Given the description of an element on the screen output the (x, y) to click on. 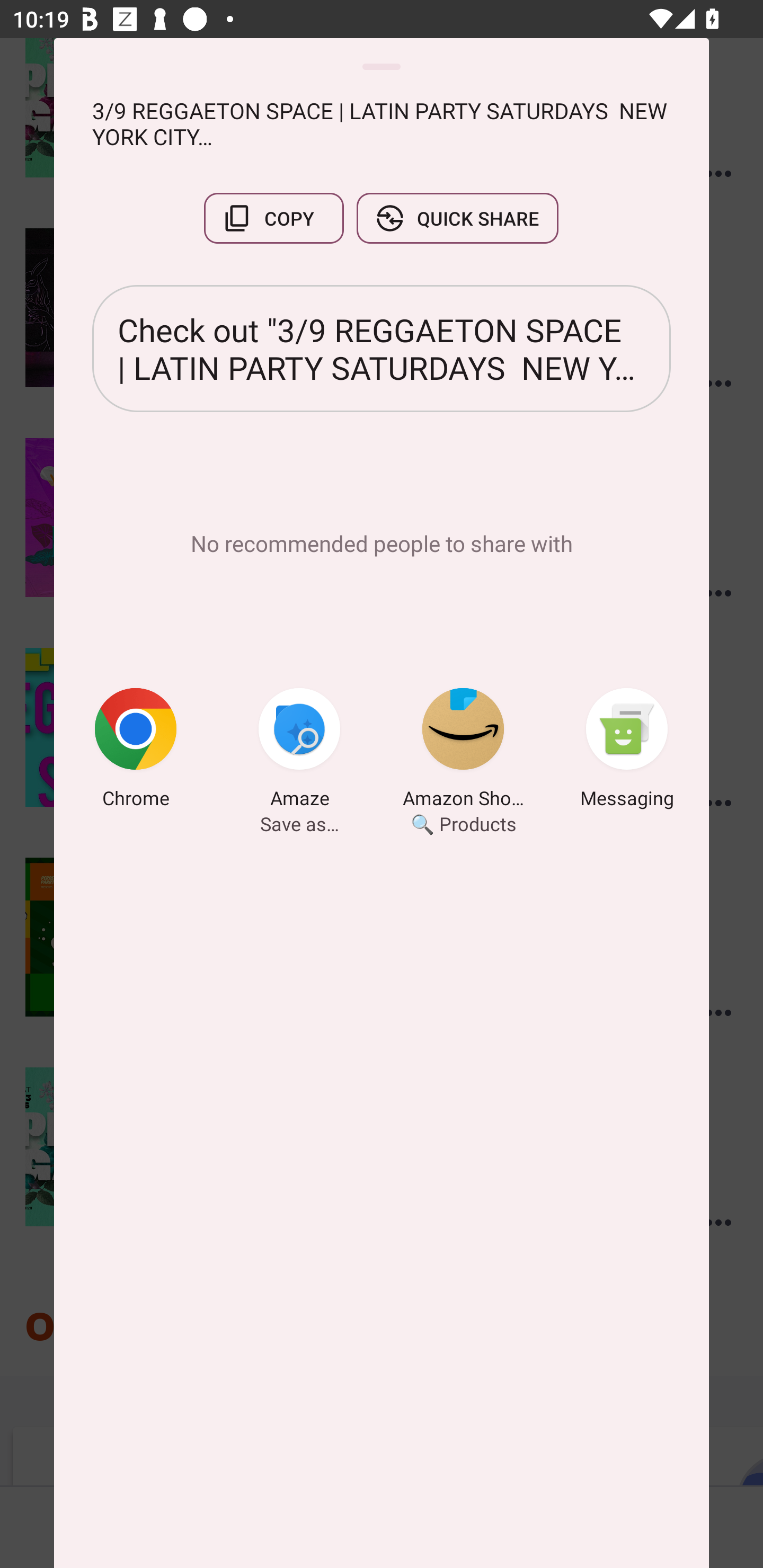
COPY (273, 218)
QUICK SHARE (457, 218)
Chrome (135, 751)
Amaze Save as… (299, 751)
Amazon Shopping 🔍 Products (463, 751)
Messaging (626, 751)
